Given the description of an element on the screen output the (x, y) to click on. 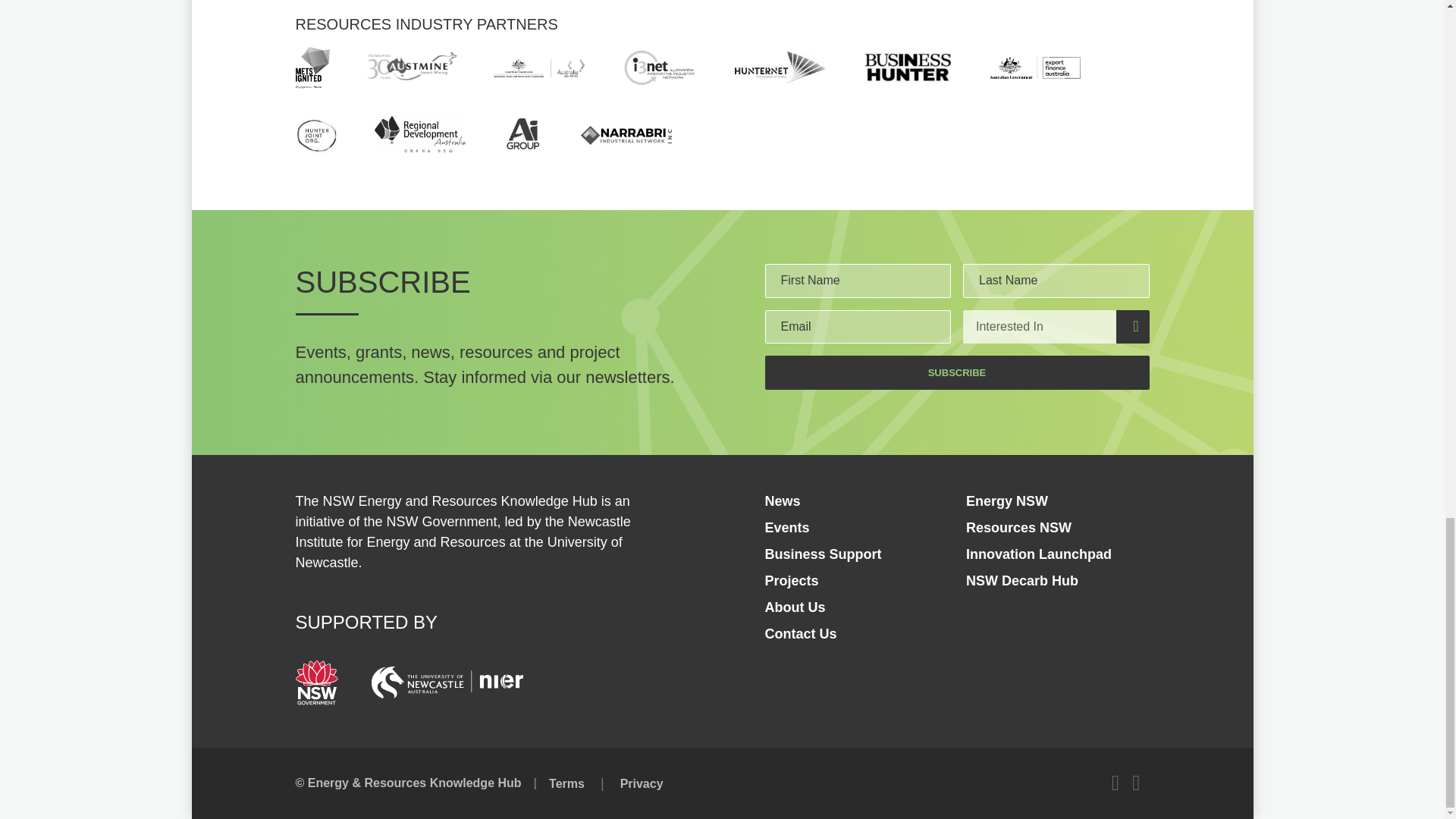
NSW Government (316, 682)
Ai Group (523, 134)
Projects (791, 580)
Austmine (411, 66)
RDA Orana (419, 134)
Business Support (822, 554)
Hunter Joint Organisation (316, 134)
Business Hunter (907, 68)
About Us (794, 607)
Subscribe (956, 372)
Events (786, 527)
The University of Newcastle in partnership with Nier (446, 682)
Energy NSW (1007, 500)
Austrade (539, 67)
Narrabri Industrial Network (625, 135)
